Given the description of an element on the screen output the (x, y) to click on. 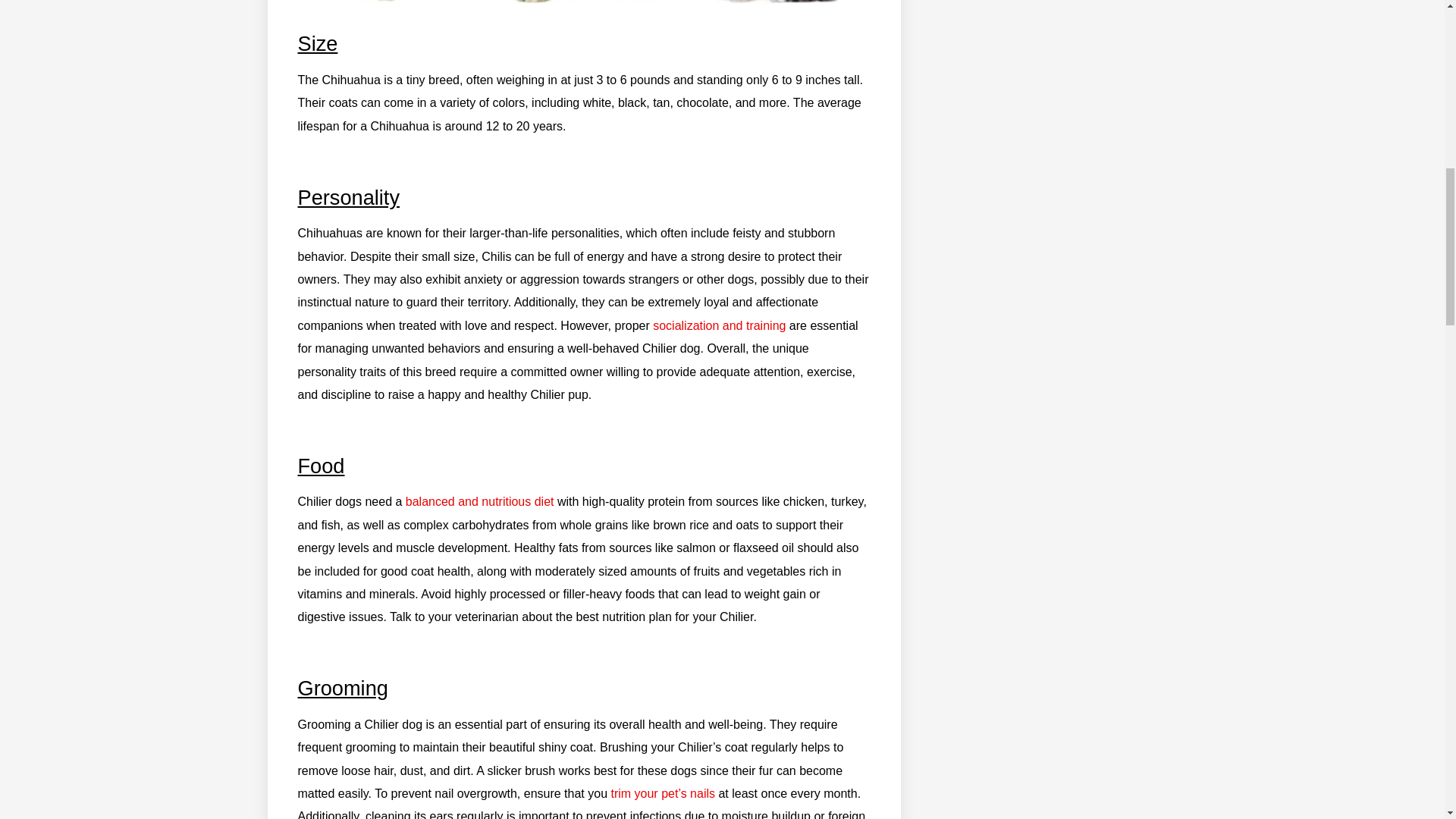
socialization and training (719, 325)
Chilier Dog Breed (583, 9)
balanced and nutritious diet (480, 501)
